Given the description of an element on the screen output the (x, y) to click on. 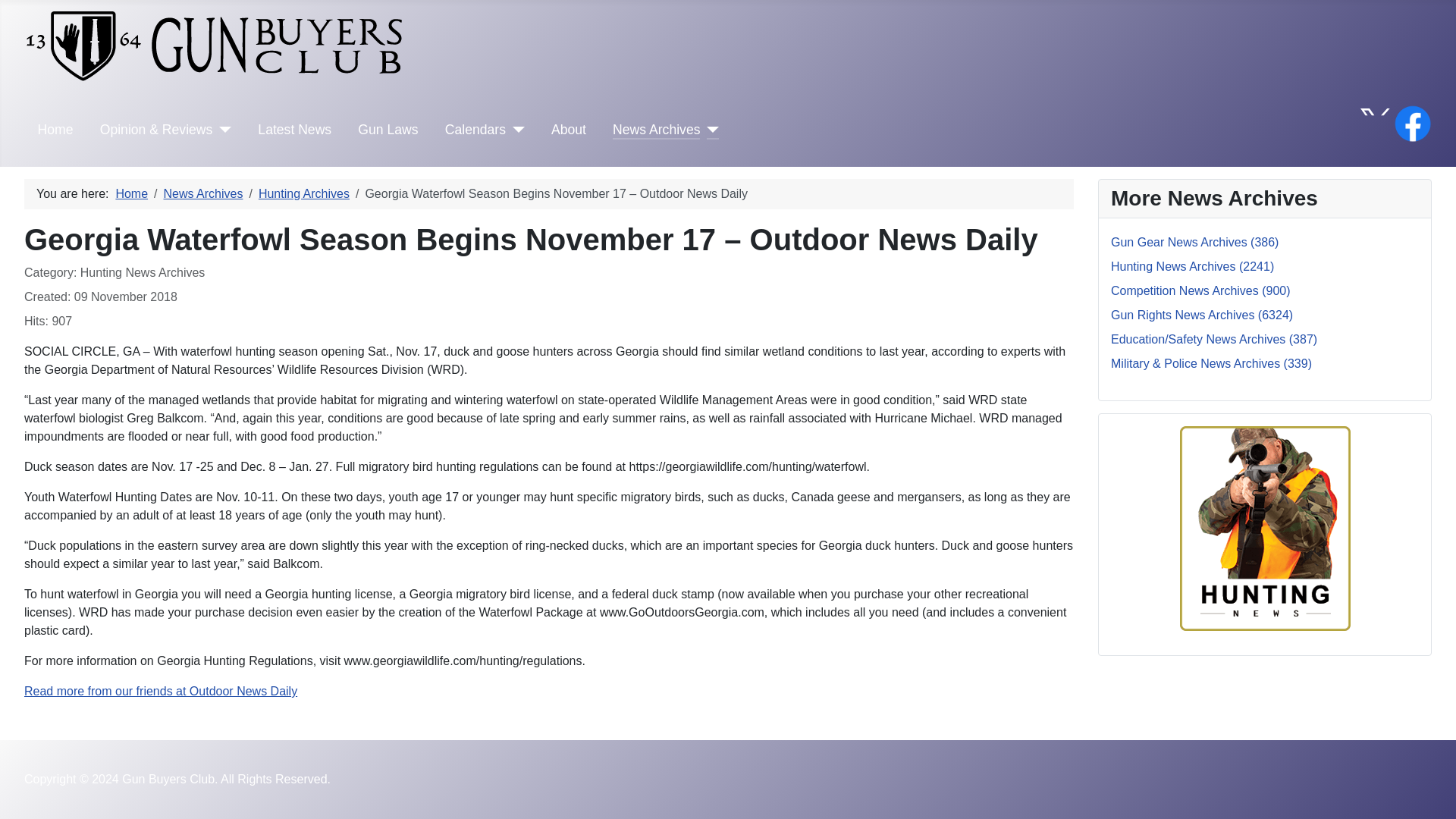
Gun Laws (387, 129)
Home (131, 193)
Hunting Archives (304, 193)
About (568, 129)
Calendars (475, 129)
News Archives (203, 193)
Latest News (294, 129)
Read more from our friends at Outdoor News Daily (160, 690)
News Archives (656, 129)
Home (55, 129)
